Given the description of an element on the screen output the (x, y) to click on. 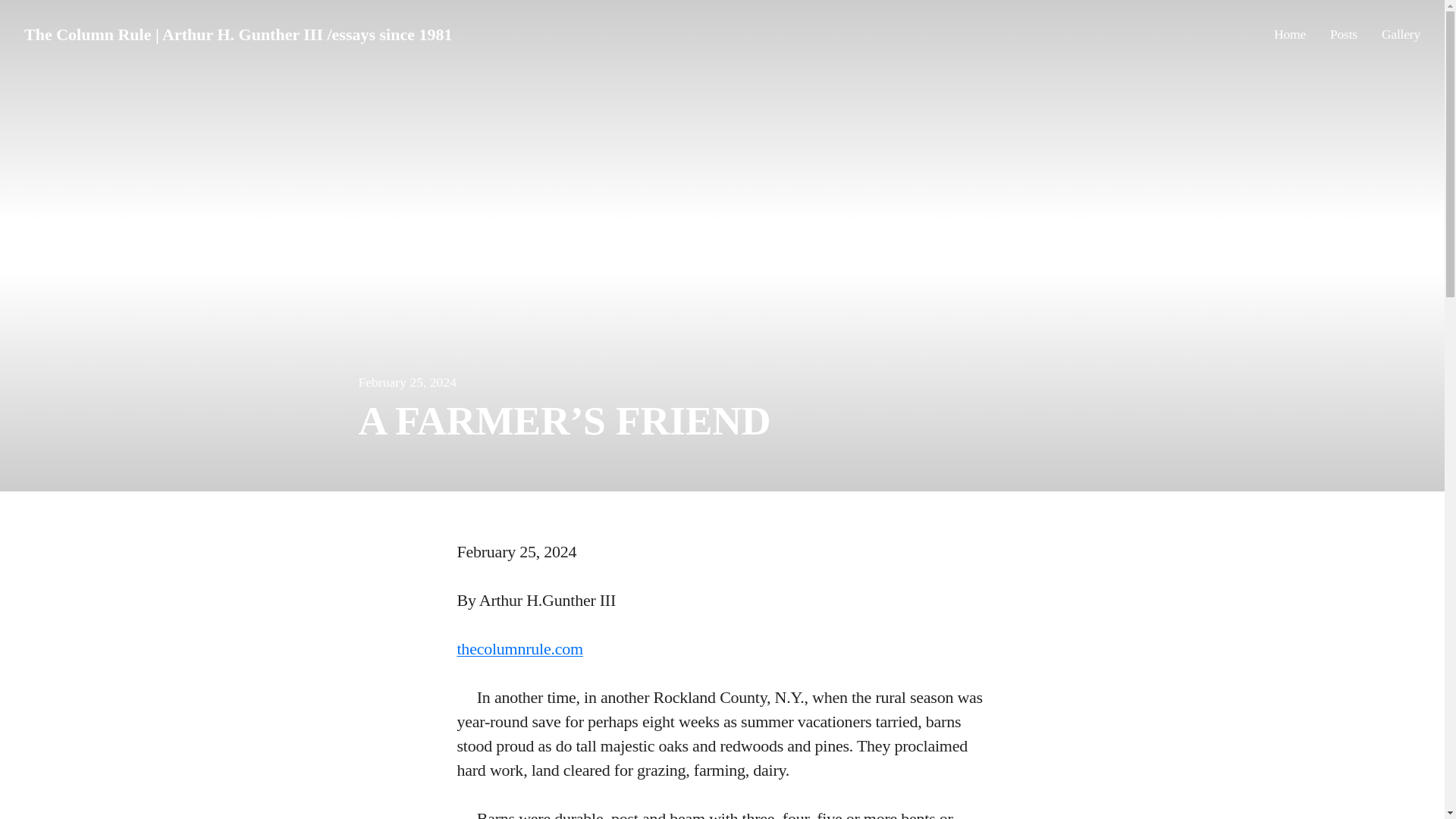
Posts (1343, 34)
Home (1290, 34)
Gallery (1401, 34)
thecolumnrule.com (519, 648)
